Given the description of an element on the screen output the (x, y) to click on. 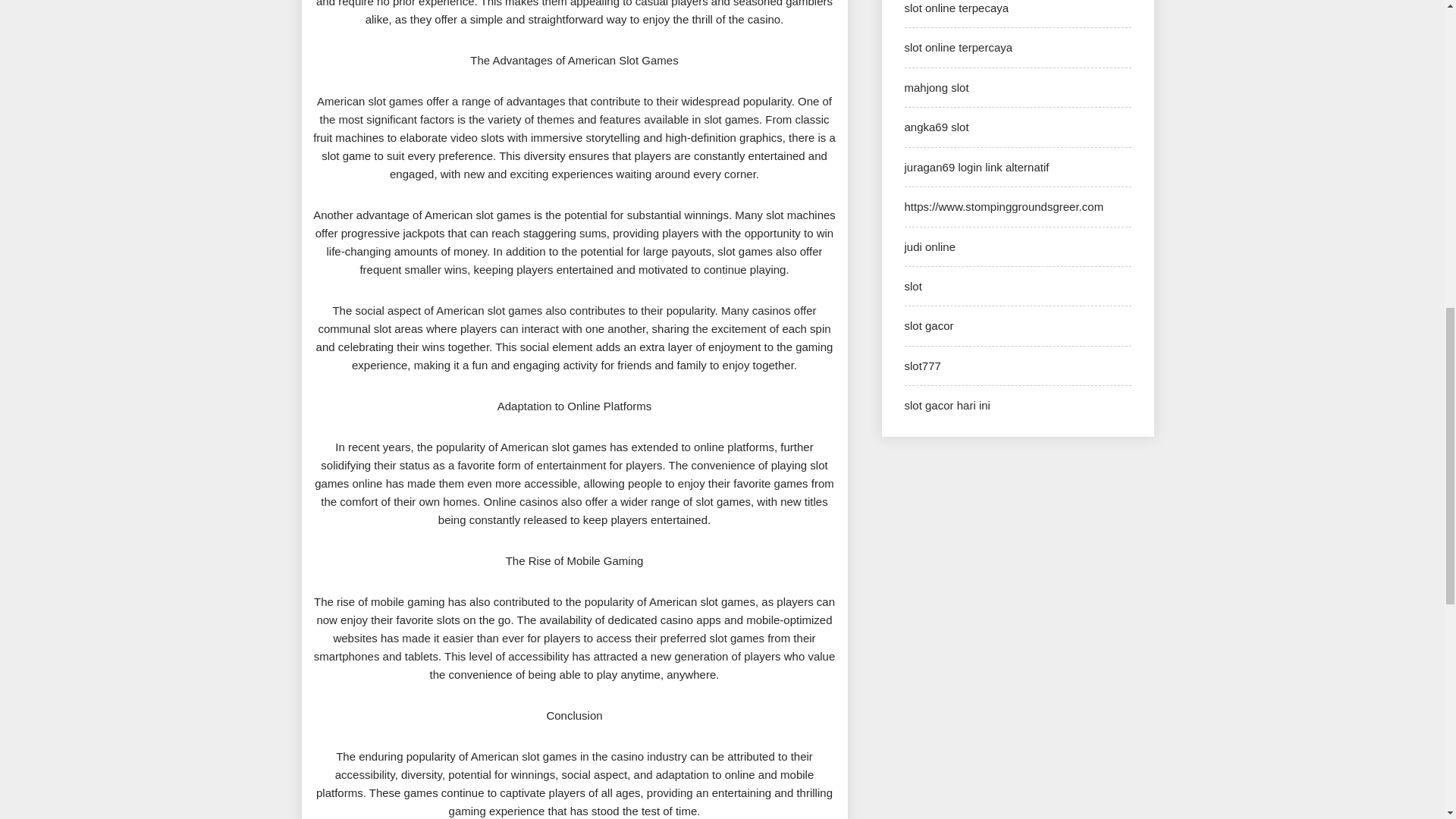
mahjong slot (936, 87)
slot (912, 286)
slot online terpercaya (957, 47)
judi online (929, 246)
slot gacor (928, 325)
slot online terpecaya (956, 7)
juragan69 login link alternatif (976, 166)
angka69 slot (936, 126)
slot777 (922, 365)
slot gacor hari ini (947, 404)
